Given the description of an element on the screen output the (x, y) to click on. 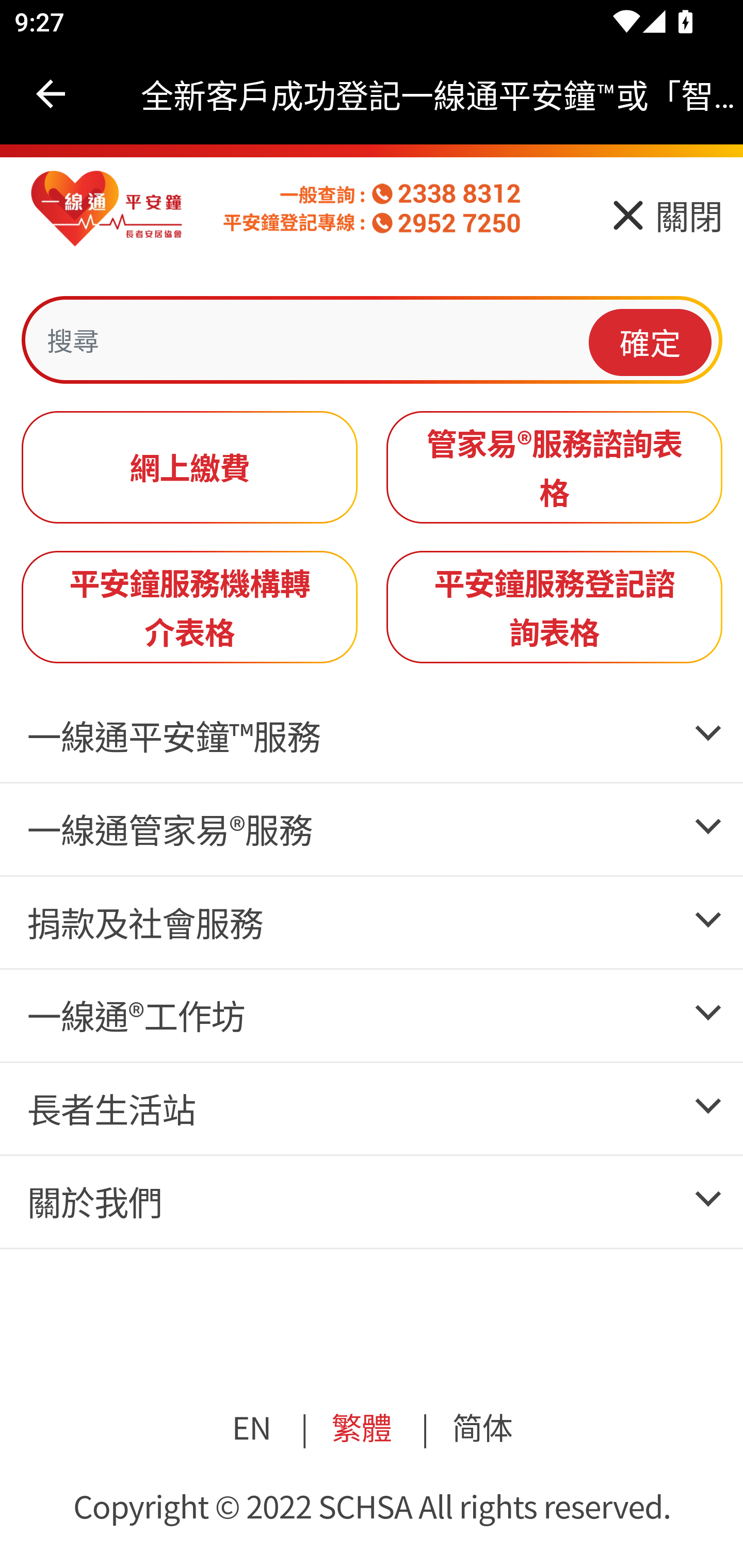
Navigate up (50, 93)
homepage (107, 209)
關閉 (665, 221)
確定 (650, 341)
網上繳費 (189, 467)
管家易®服務諮詢表格 (554, 467)
平安鐘服務機構轉介表格 (189, 606)
平安鐘服務登記諮詢表格 (554, 606)
一線通平安鐘™服務 (173, 735)
一線通管家易®服務 (169, 829)
捐款及社會服務 (144, 921)
一線通®工作坊 (135, 1015)
長者生活站 (110, 1108)
關於我們 (93, 1200)
EN (251, 1424)
繁體 (360, 1424)
简体 (481, 1424)
